Given the description of an element on the screen output the (x, y) to click on. 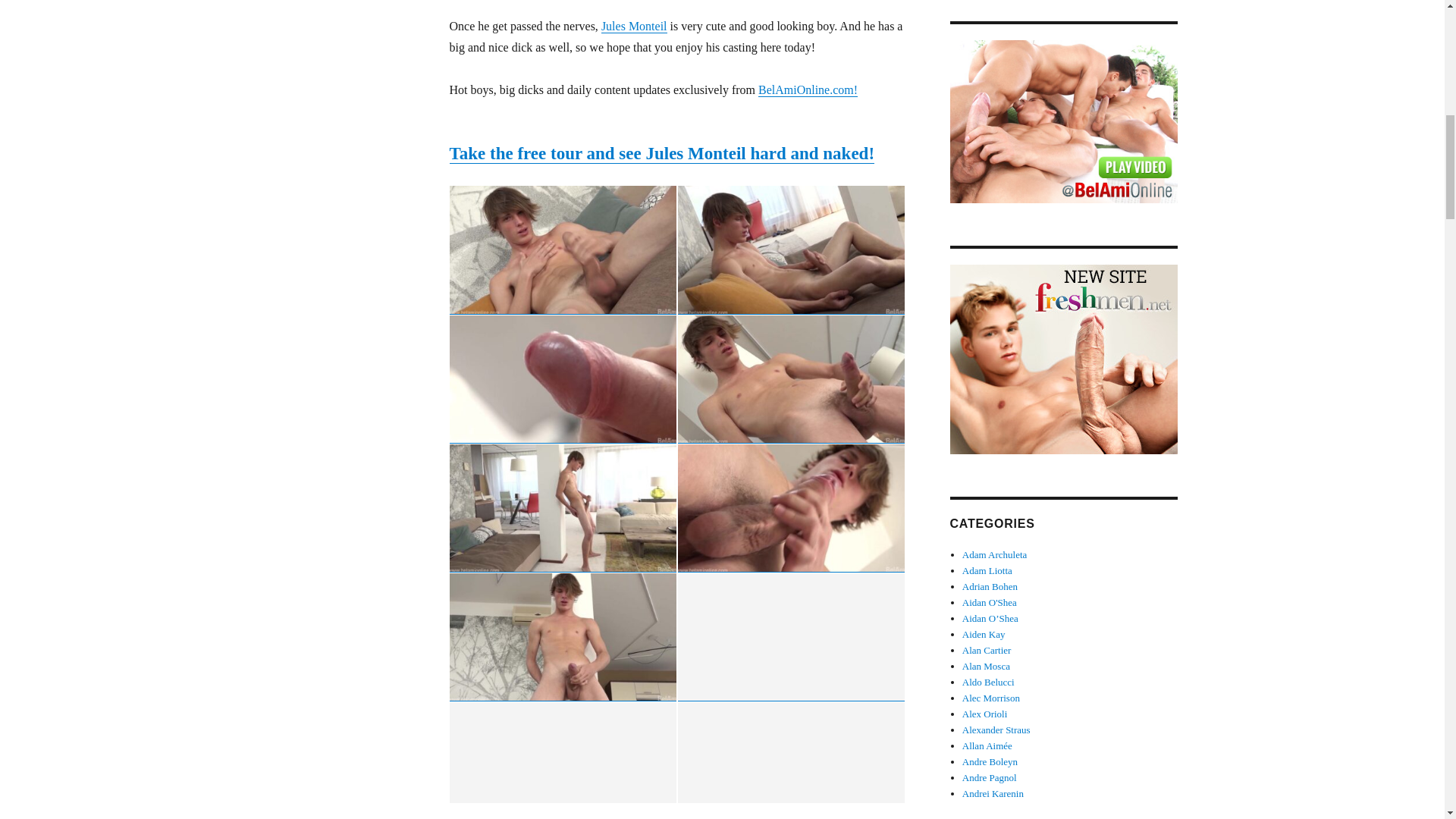
BelAmiOnline.com! (807, 89)
Take the free tour and see Jules Monteil hard and naked! (661, 153)
Jules Monteil (633, 25)
